Given the description of an element on the screen output the (x, y) to click on. 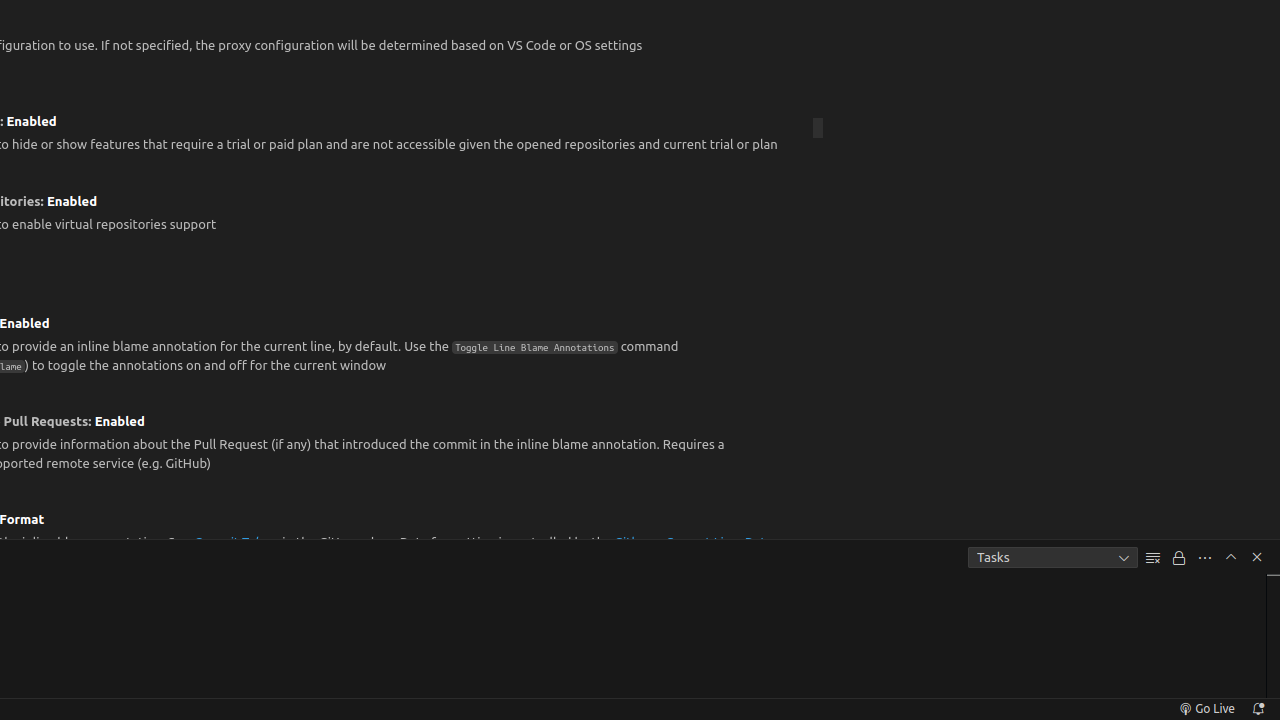
Views and More Actions... Element type: push-button (1205, 557)
Commit Tokens Element type: link (236, 542)
Clear Output Element type: push-button (1153, 557)
broadcast Go Live, Click to run live server Element type: push-button (1206, 709)
Tasks Element type: menu-item (1053, 557)
